Given the description of an element on the screen output the (x, y) to click on. 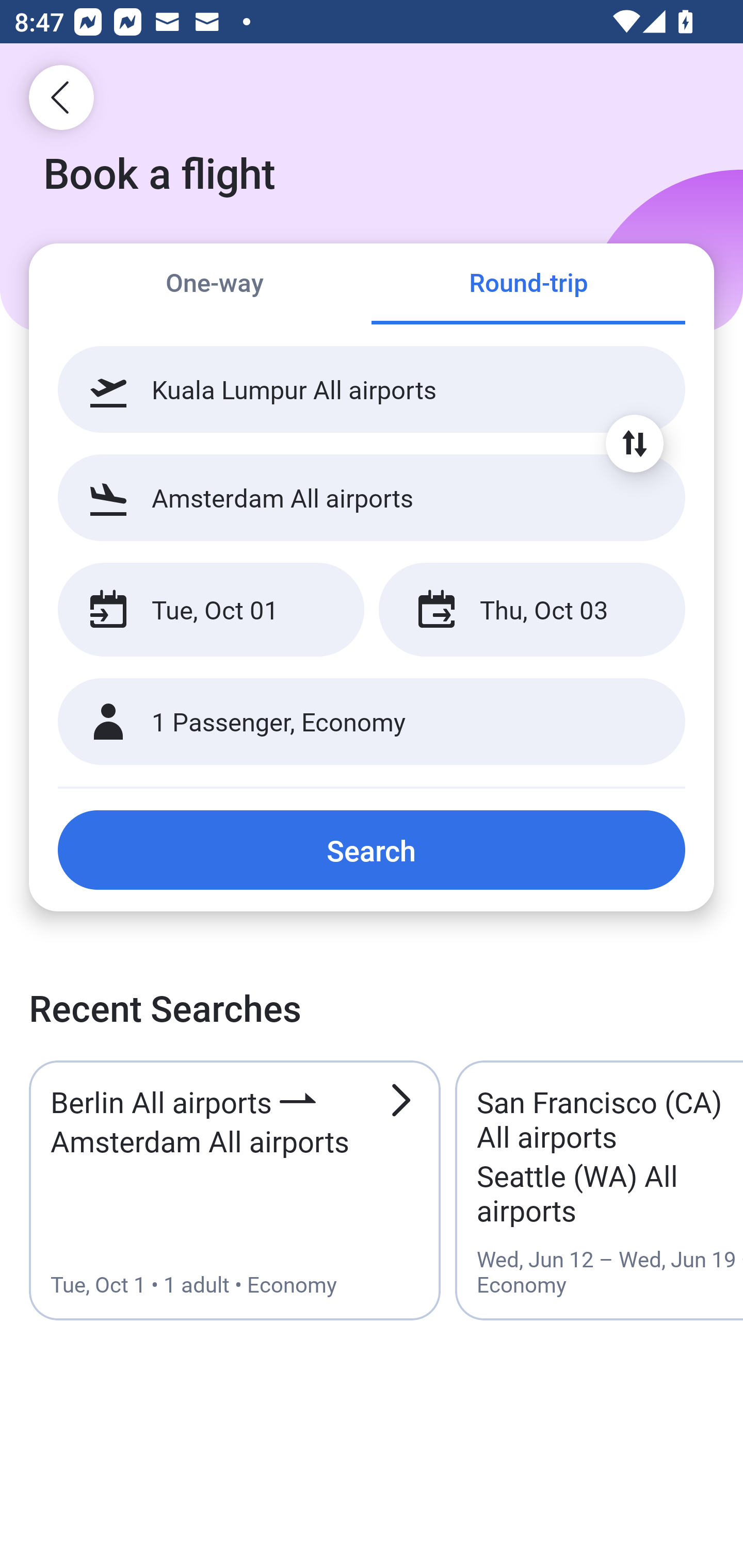
One-way (214, 284)
Kuala Lumpur All airports (371, 389)
Amsterdam All airports (371, 497)
Tue, Oct 01 (210, 609)
Thu, Oct 03 (531, 609)
1 Passenger, Economy (371, 721)
Search (371, 849)
